Given the description of an element on the screen output the (x, y) to click on. 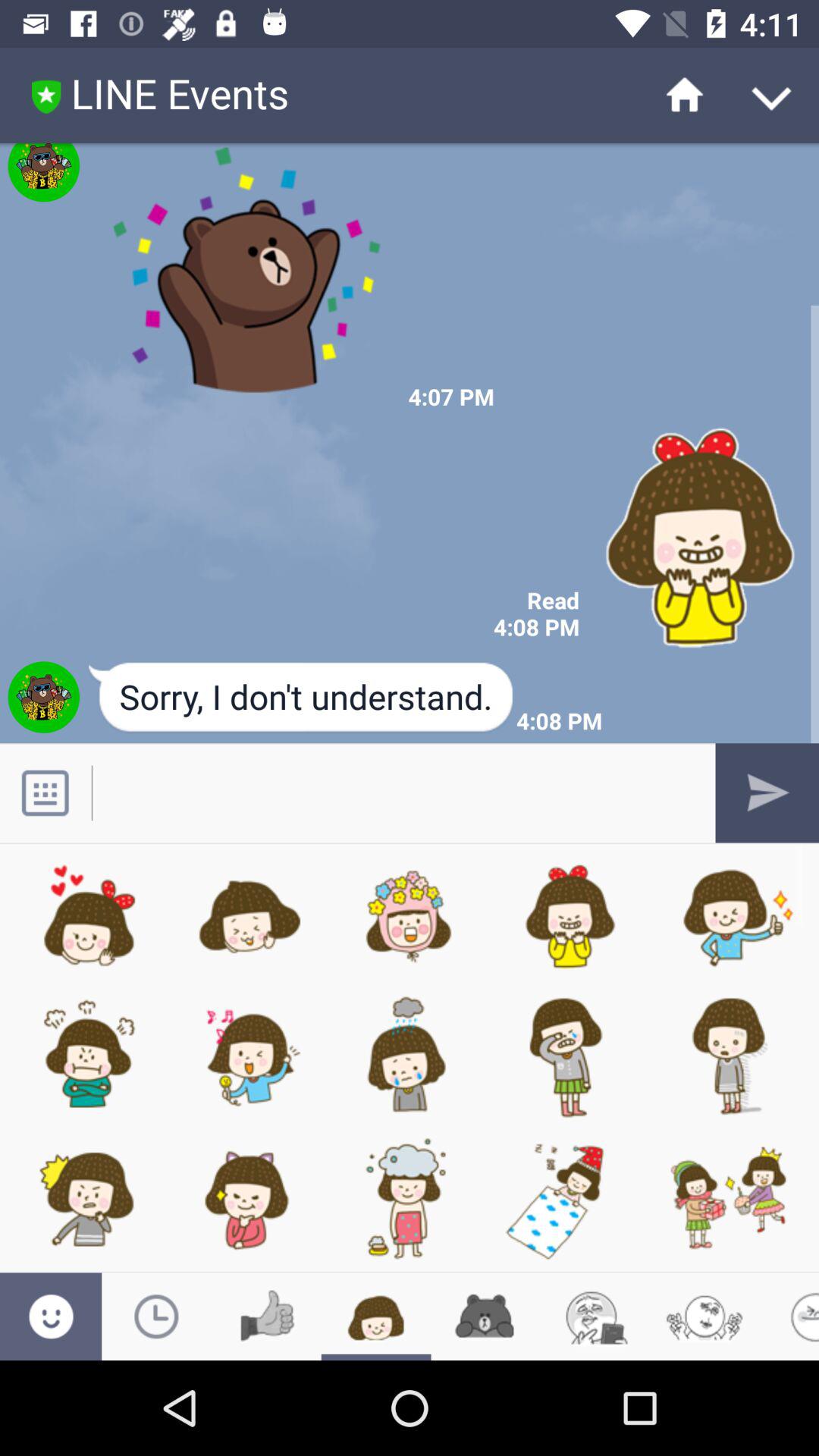
brown bear image (247, 277)
